Given the description of an element on the screen output the (x, y) to click on. 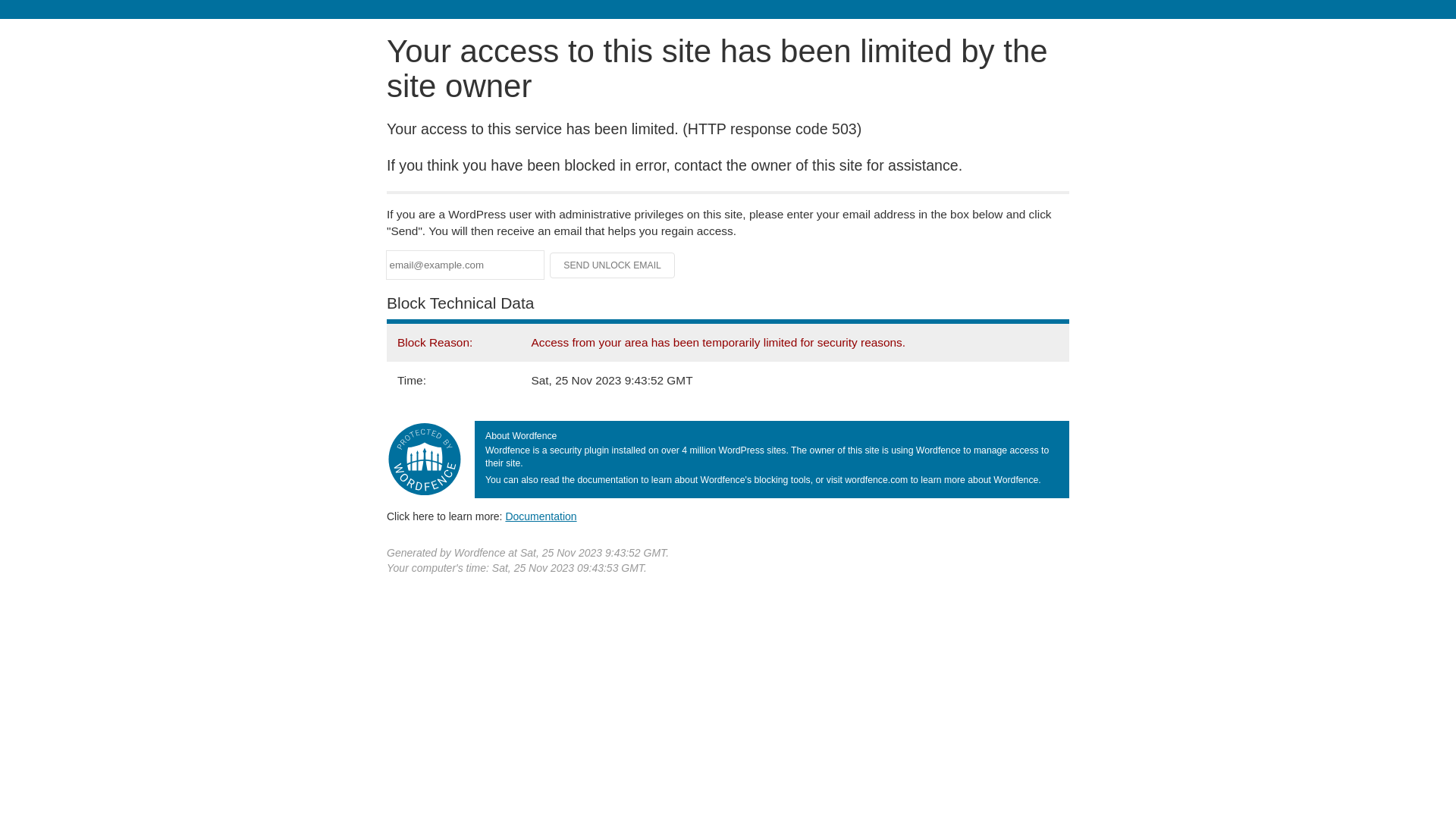
Documentation Element type: text (540, 516)
Send Unlock Email Element type: text (612, 265)
